Given the description of an element on the screen output the (x, y) to click on. 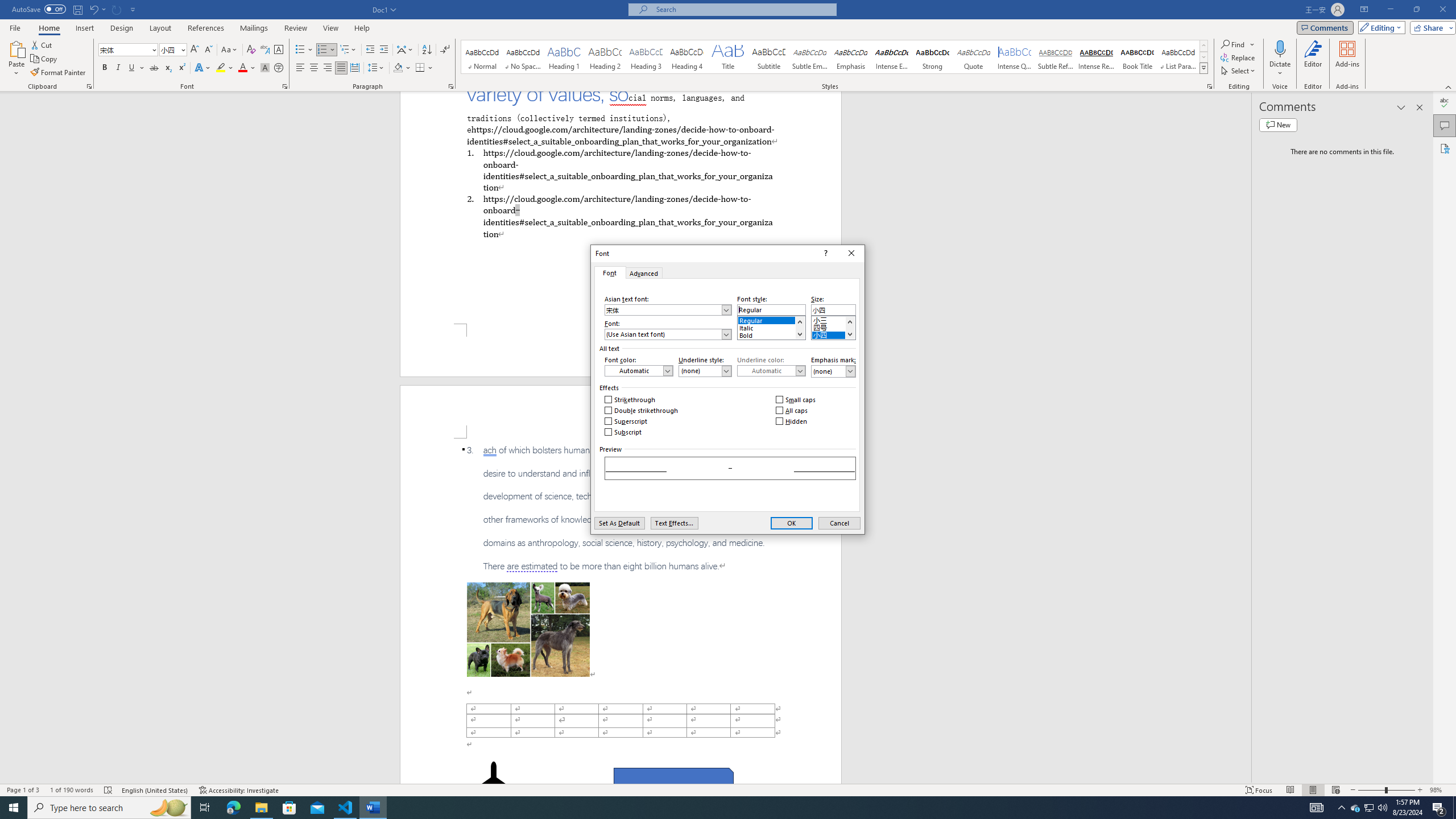
Row up (1203, 45)
Zoom In (1420, 790)
Rectangle: Diagonal Corners Snipped 2 (672, 781)
Clear Formatting (250, 49)
Text Highlight Color Yellow (220, 67)
Increase Indent (383, 49)
Quick Access Toolbar (74, 9)
Undo Apply Quick Style (96, 9)
Numbering (326, 49)
Accessibility (1444, 147)
Show/Hide Editing Marks (444, 49)
Design (122, 28)
